Given the description of an element on the screen output the (x, y) to click on. 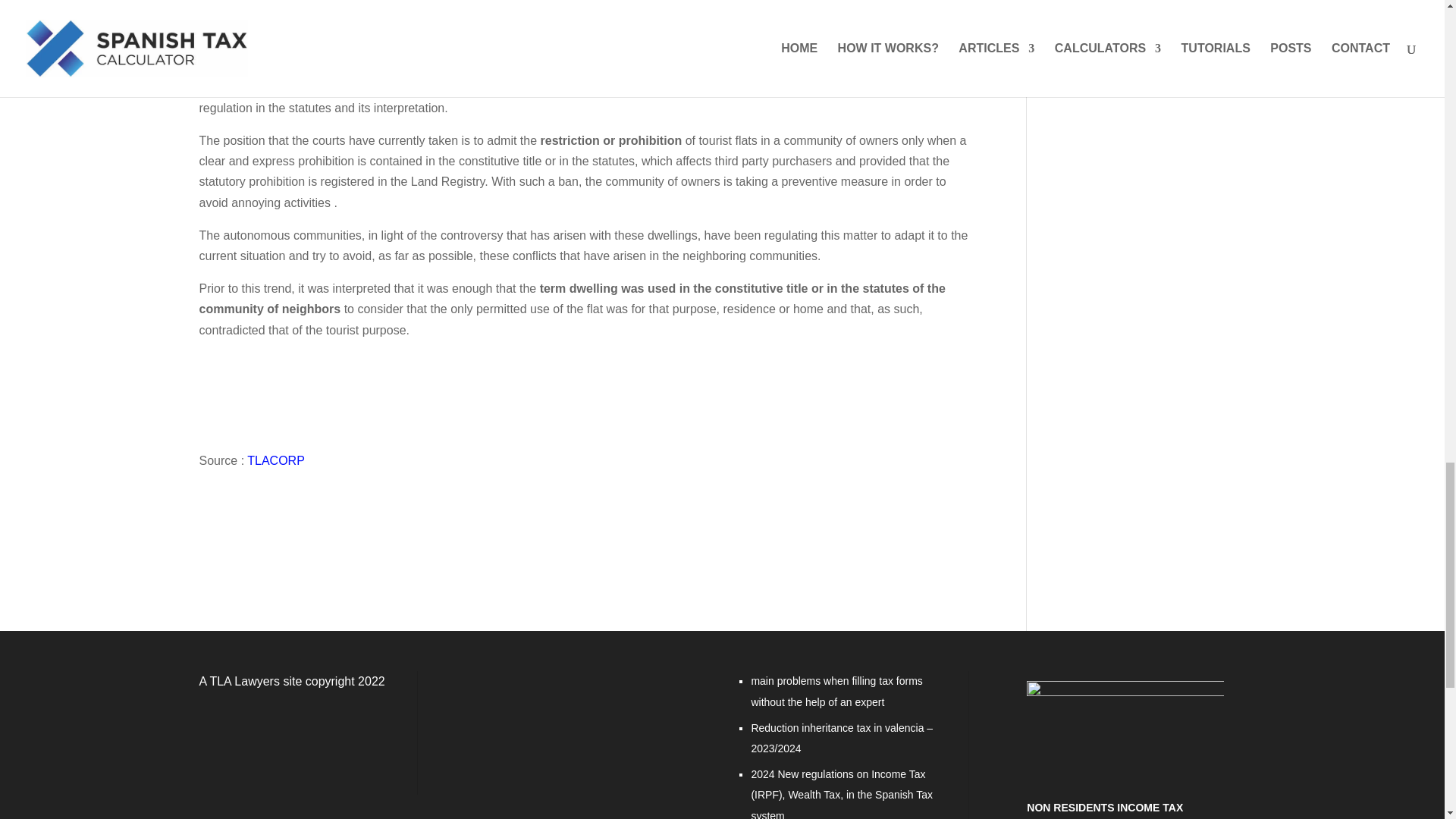
TLACORP (275, 460)
A TLA Lawyers site (249, 680)
